Given the description of an element on the screen output the (x, y) to click on. 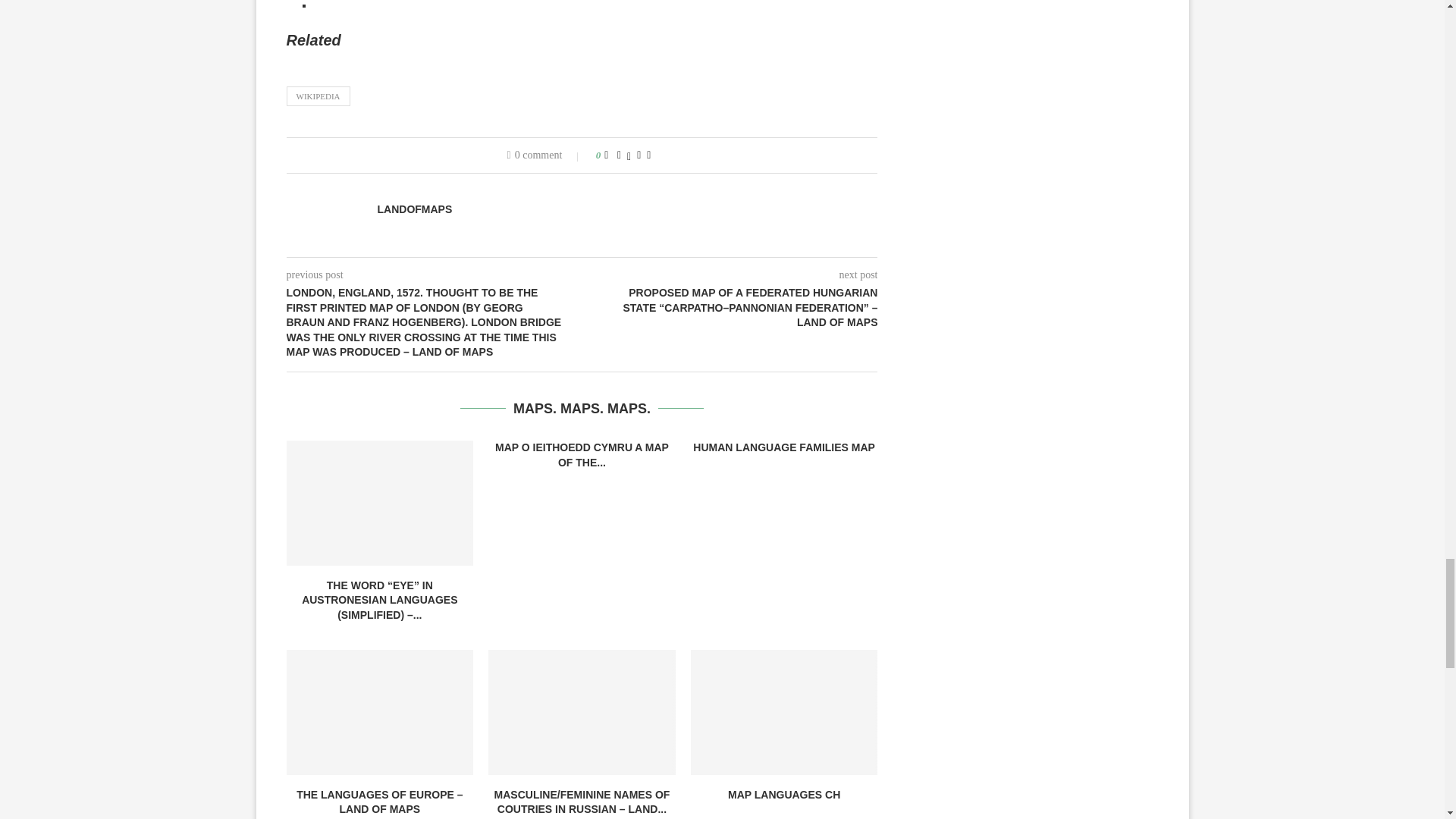
Author landofmaps (414, 209)
Map Languages Ch (783, 711)
